Given the description of an element on the screen output the (x, y) to click on. 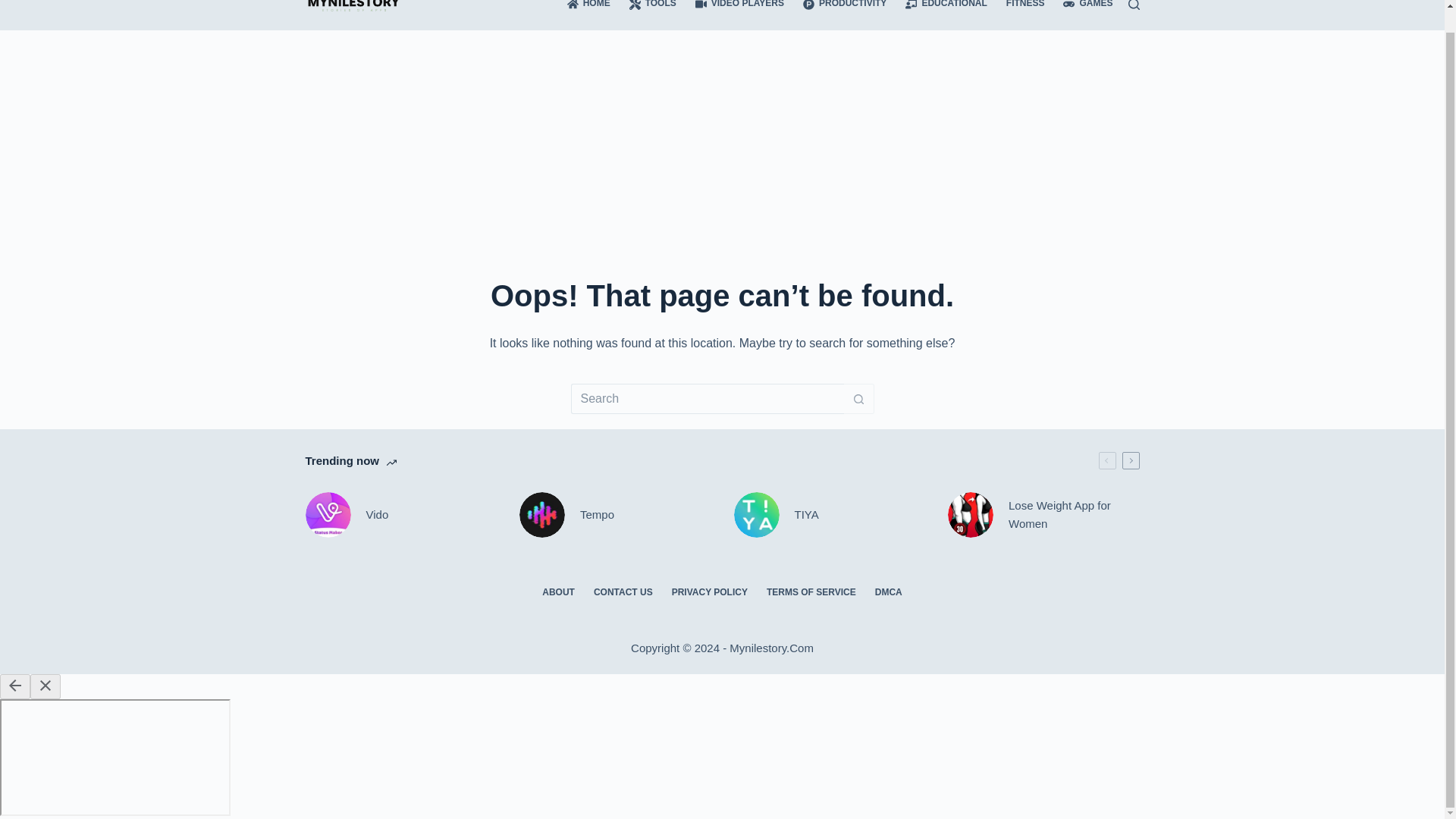
Lose Weight App for Women (1043, 514)
PRODUCTIVITY (844, 15)
TOOLS (652, 15)
Tempo (615, 514)
TIYA (829, 514)
VIDEO PLAYERS (739, 15)
CONTACT US (622, 592)
DMCA (887, 592)
PRIVACY POLICY (709, 592)
TERMS OF SERVICE (810, 592)
